Given the description of an element on the screen output the (x, y) to click on. 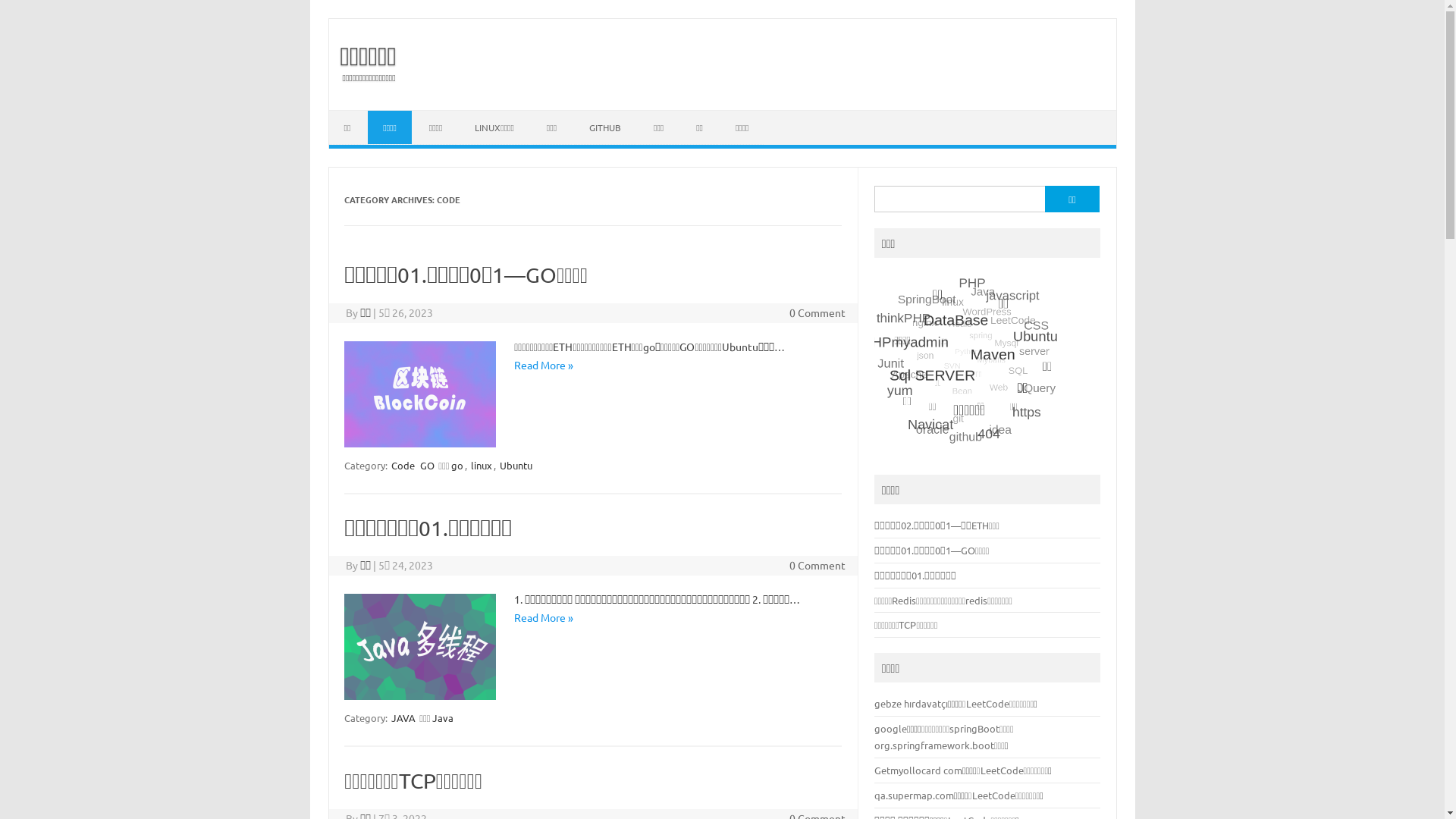
Skip to content Element type: text (365, 114)
JAVA Element type: text (403, 717)
Code Element type: text (402, 465)
0 Comment Element type: text (817, 312)
Ubuntu Element type: text (515, 465)
go Element type: text (456, 465)
google Element type: text (890, 727)
linux Element type: text (480, 465)
Java Element type: text (442, 717)
Getmyollocard com Element type: text (918, 769)
0 Comment Element type: text (817, 564)
qa.supermap.com Element type: text (913, 794)
GO Element type: text (427, 465)
GITHUB Element type: text (605, 127)
